Given the description of an element on the screen output the (x, y) to click on. 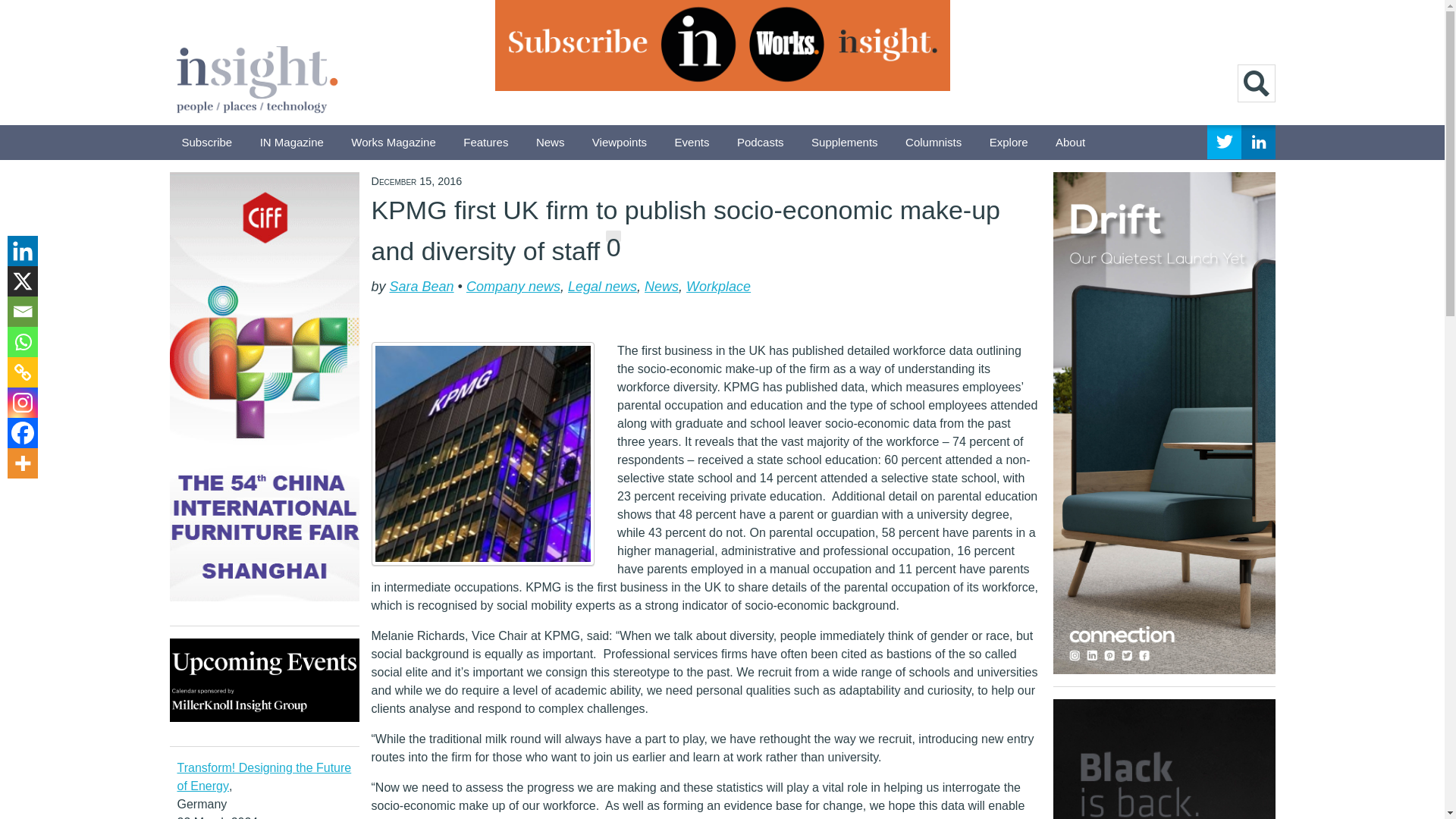
GO (1256, 83)
GO (1256, 83)
Subscribe (207, 142)
Features (485, 142)
News (550, 142)
IN Magazine (291, 142)
Columnists (933, 142)
Email (22, 311)
Events (692, 142)
